Given the description of an element on the screen output the (x, y) to click on. 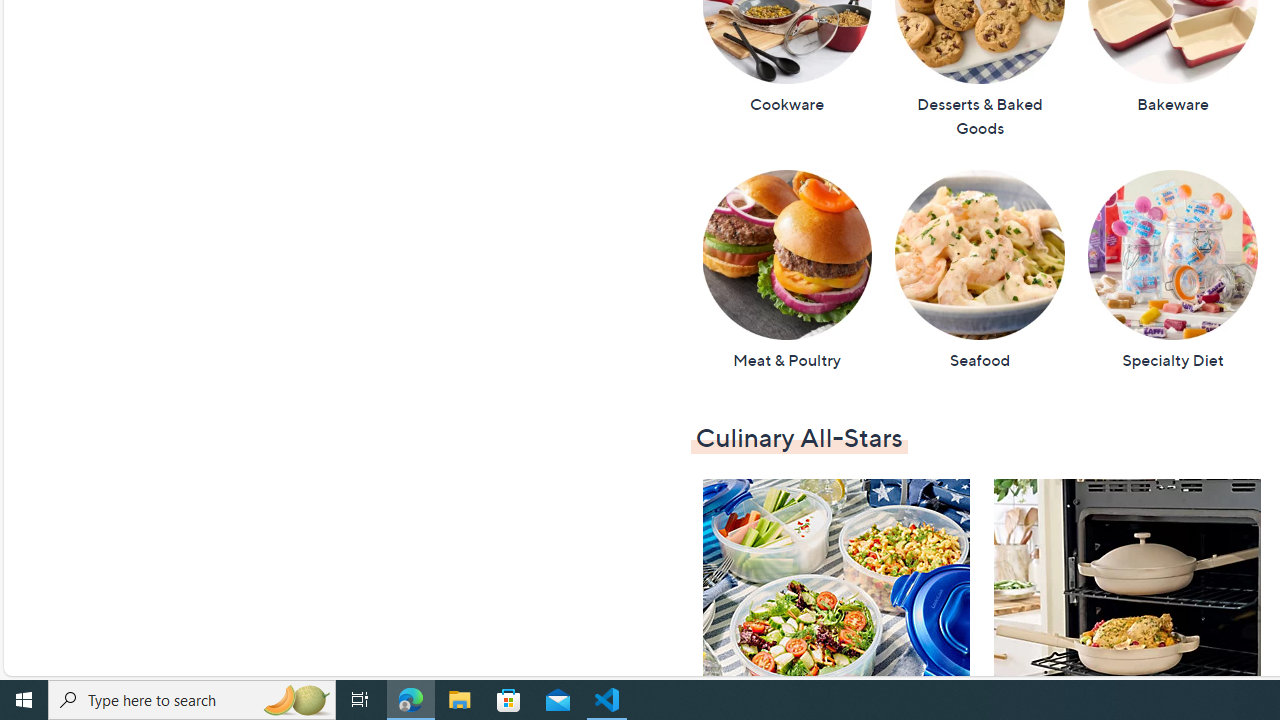
Specialty Diet (1173, 270)
Meat & Poultry (786, 270)
Seafood (979, 270)
